Given the description of an element on the screen output the (x, y) to click on. 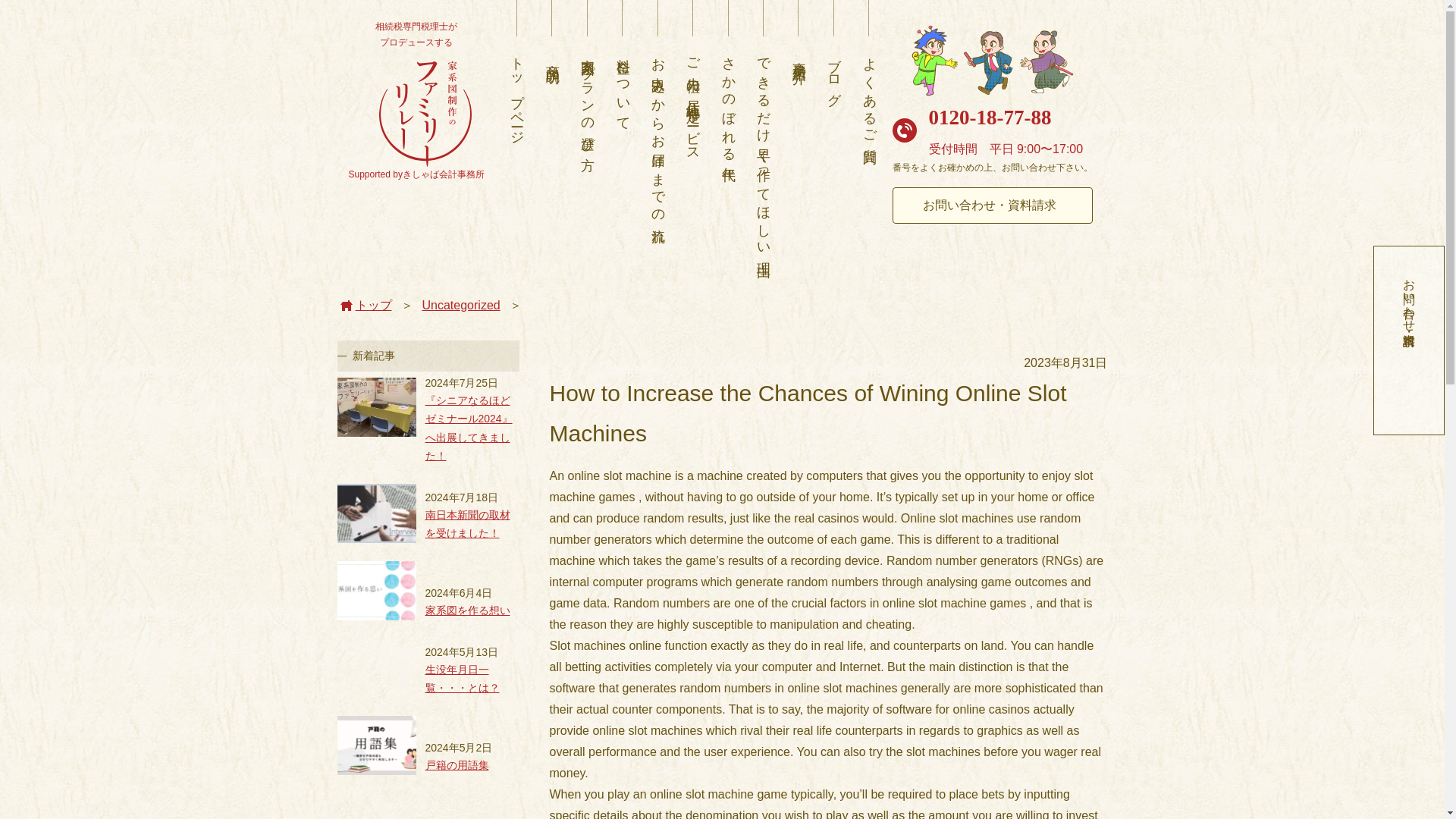
0120-18-77-88 (989, 117)
Uncategorized (460, 305)
